Given the description of an element on the screen output the (x, y) to click on. 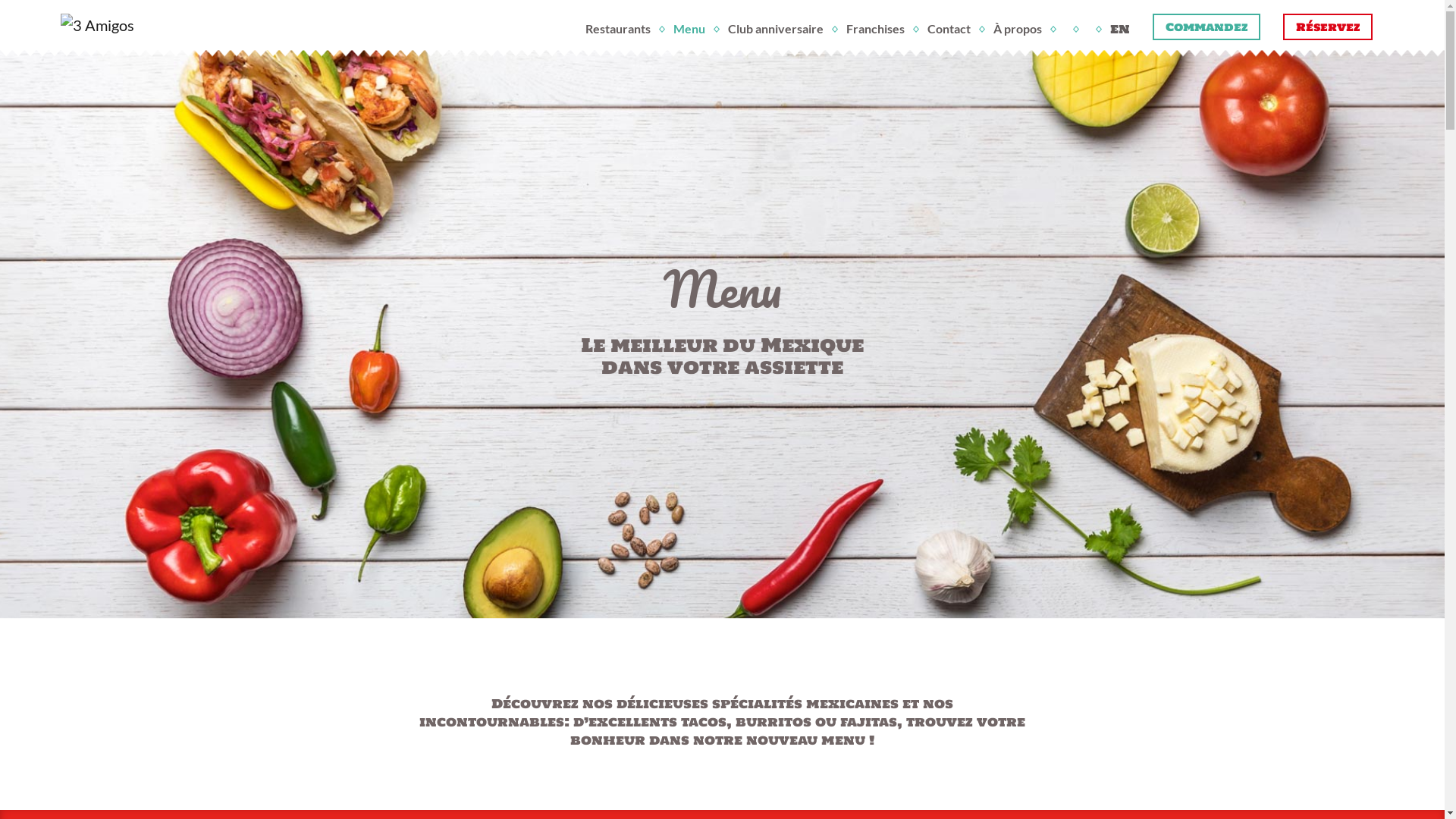
Contact Element type: text (948, 28)
Commandez Element type: text (1206, 26)
Club anniversaire Element type: text (775, 28)
Franchises Element type: text (875, 28)
Restaurants Element type: text (617, 28)
Menu Element type: text (689, 28)
en Element type: text (1119, 28)
